Given the description of an element on the screen output the (x, y) to click on. 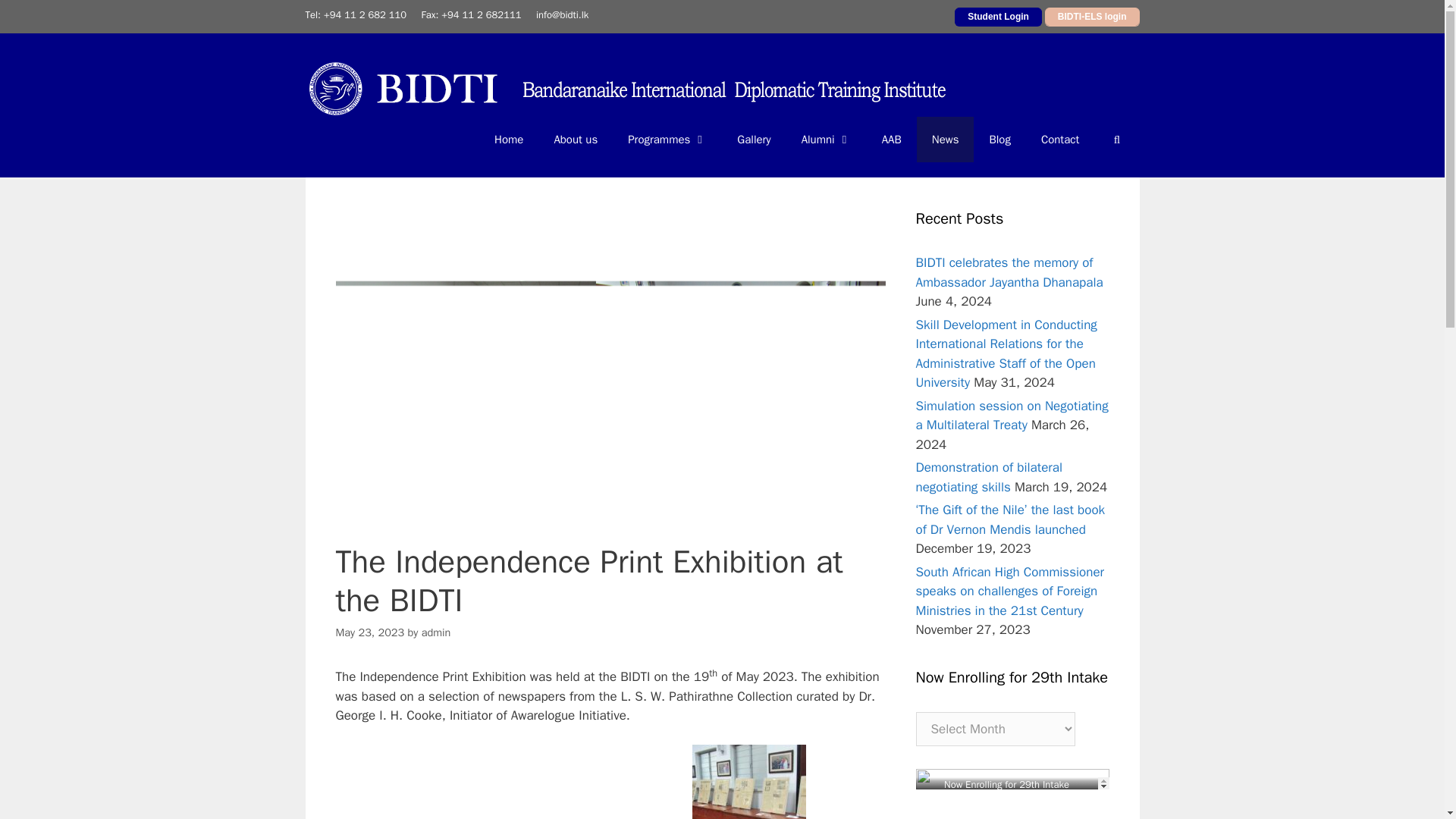
News (945, 139)
AAB (891, 139)
Alumni (826, 139)
View all posts by admin (436, 632)
BIDTI-ELS login (1092, 16)
Student Login (998, 16)
Programmes (667, 139)
Home (508, 139)
Blog (999, 139)
Gallery (754, 139)
About us (575, 139)
Contact (1060, 139)
